Given the description of an element on the screen output the (x, y) to click on. 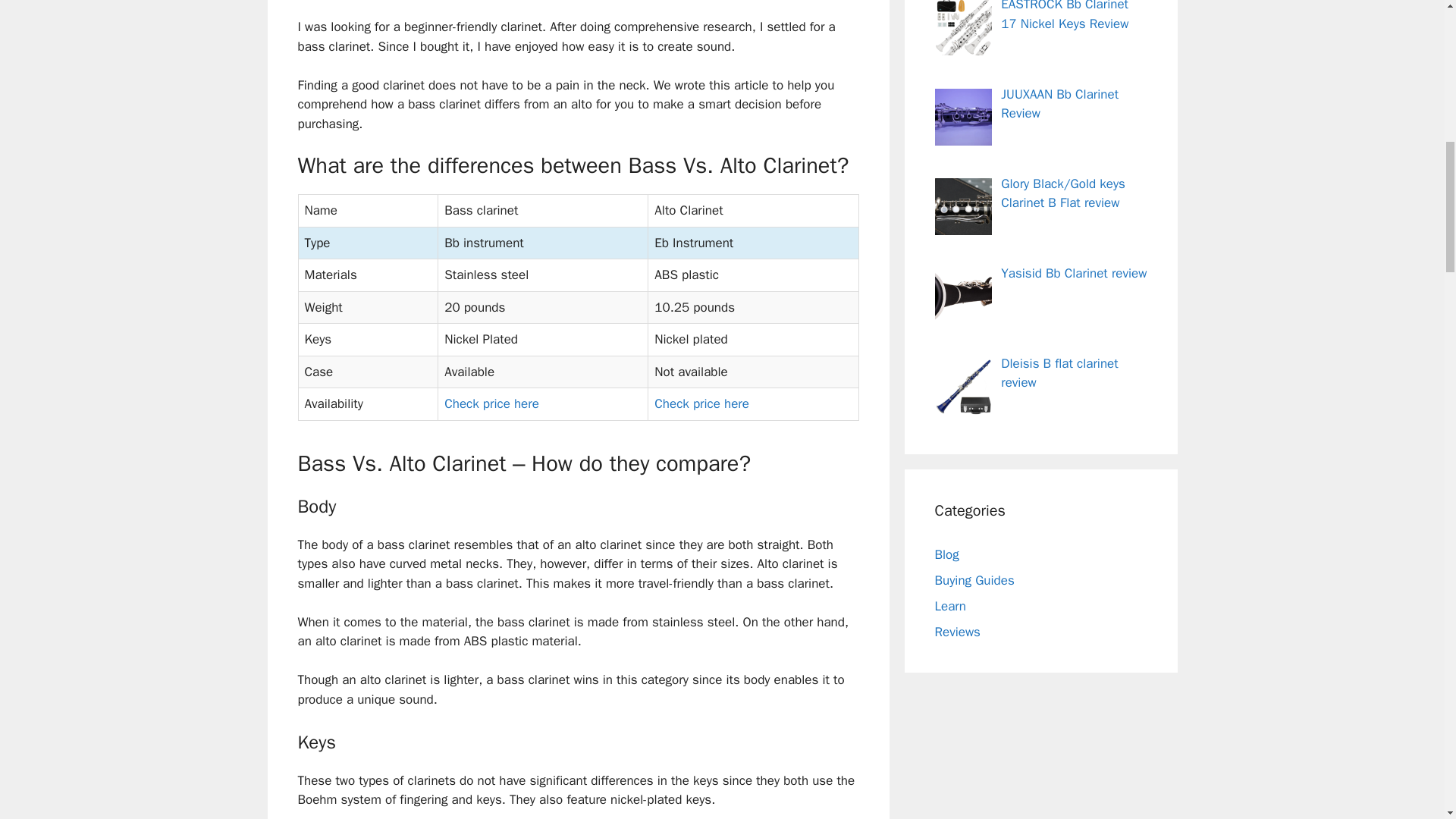
EASTROCK Bb Clarinet 17 Nickel Keys Review (1064, 15)
Yasisid Bb Clarinet review (1074, 273)
Check price here (701, 403)
Check price here (491, 403)
Dleisis B flat clarinet review (1059, 373)
JUUXAAN Bb Clarinet Review (1059, 104)
